Given the description of an element on the screen output the (x, y) to click on. 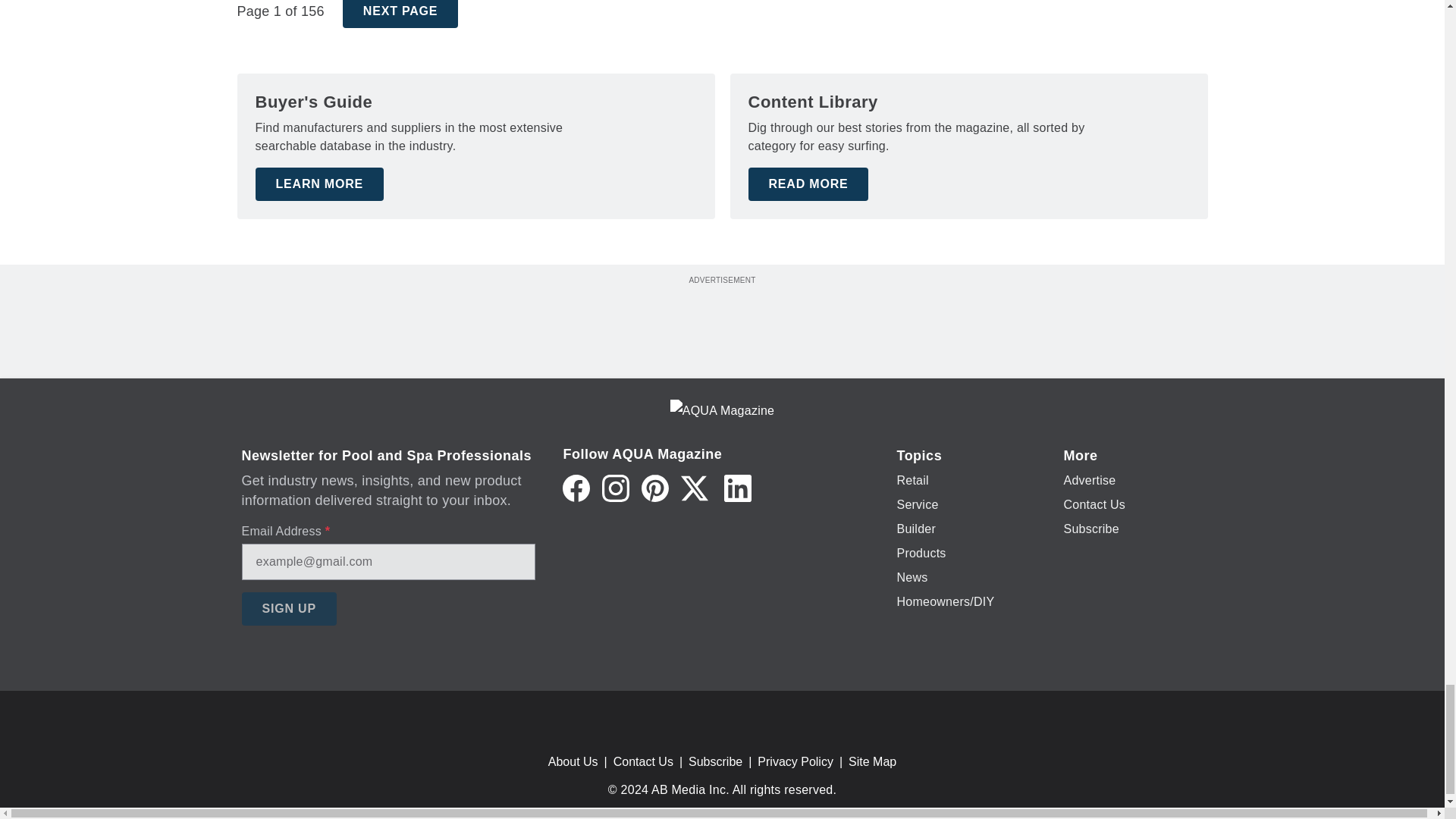
Facebook icon (575, 488)
Instagram icon (615, 488)
Twitter X icon (694, 488)
Pinterest icon (655, 488)
LinkedIn icon (737, 488)
